Given the description of an element on the screen output the (x, y) to click on. 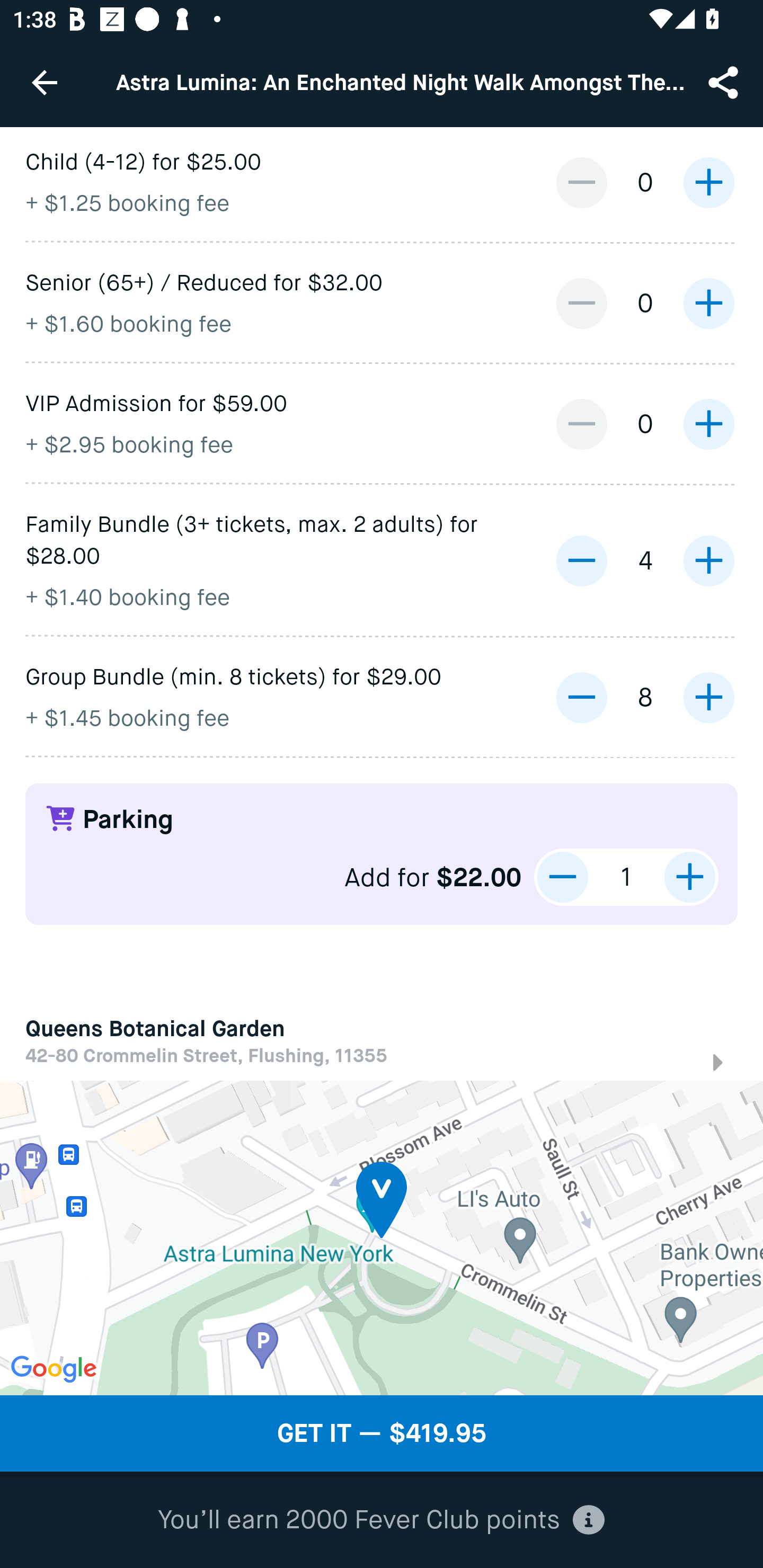
Navigate up (44, 82)
Share (724, 81)
decrease (581, 182)
increase (708, 182)
decrease (581, 302)
increase (708, 302)
decrease (581, 423)
increase (708, 423)
decrease (581, 560)
increase (708, 560)
decrease (581, 697)
increase (708, 697)
decrease (562, 876)
increase (689, 876)
Google Map Map Marker (381, 1237)
GET IT — $419.95 (381, 1433)
You’ll earn 2000 Fever Club points (380, 1519)
